Given the description of an element on the screen output the (x, y) to click on. 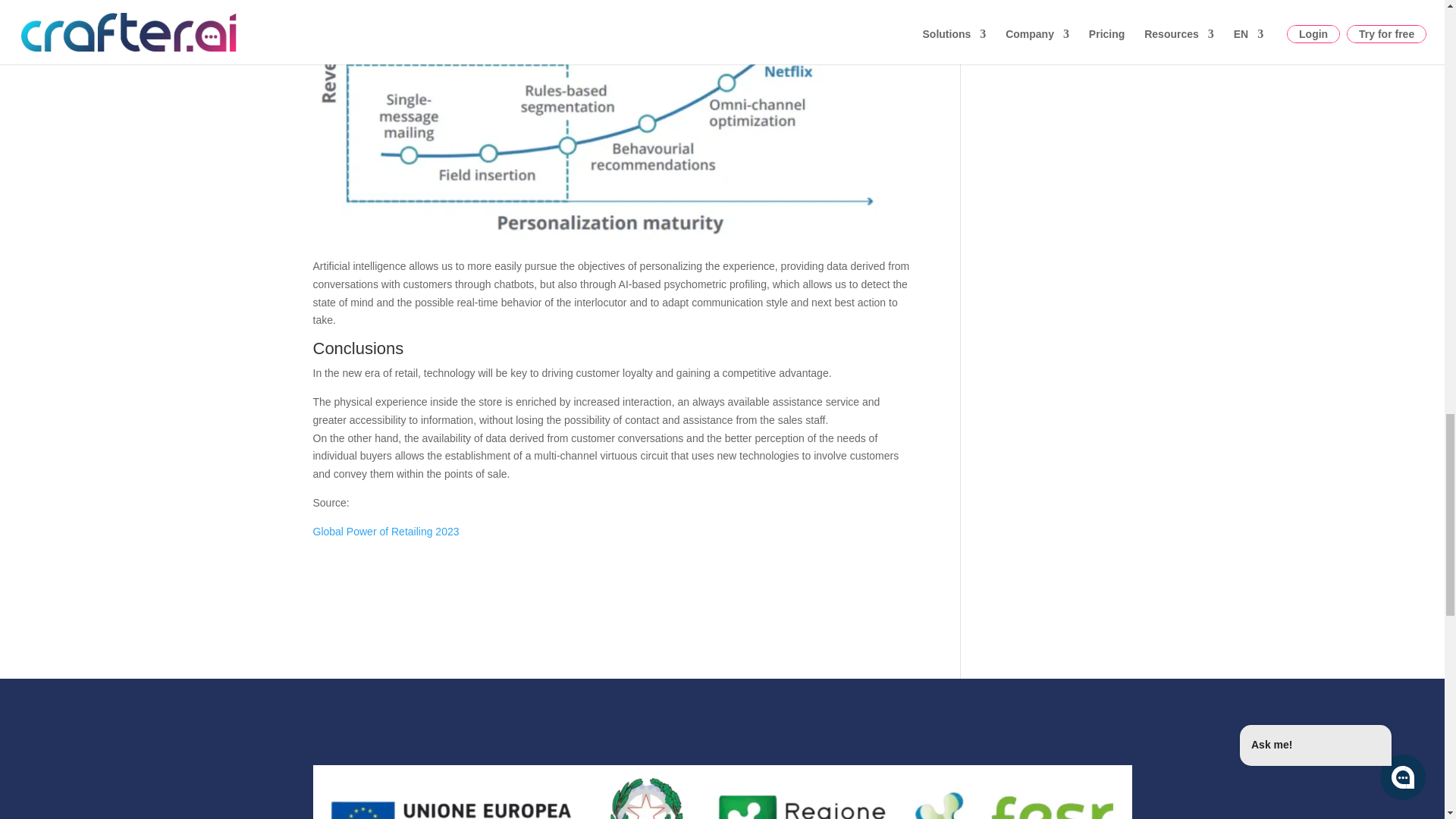
loghi finanziamenti unione europea e regione lombardia (722, 791)
